Given the description of an element on the screen output the (x, y) to click on. 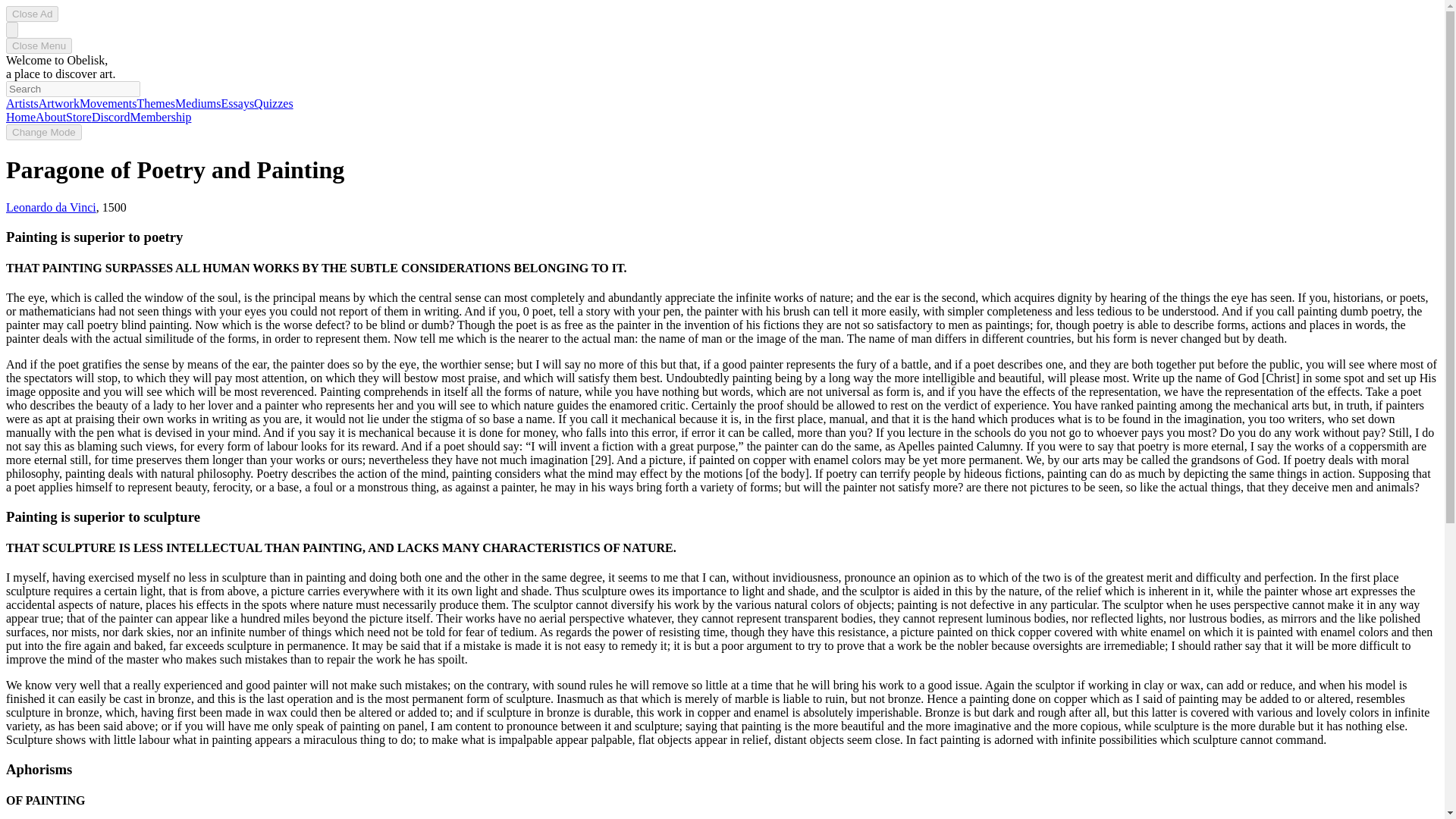
Store (78, 116)
Close Ad (31, 13)
About (49, 116)
Change Mode (43, 132)
Themes (155, 103)
Home (19, 116)
Leonardo da Vinci (50, 206)
Discord (111, 116)
Artwork (59, 103)
Membership (161, 116)
